Given the description of an element on the screen output the (x, y) to click on. 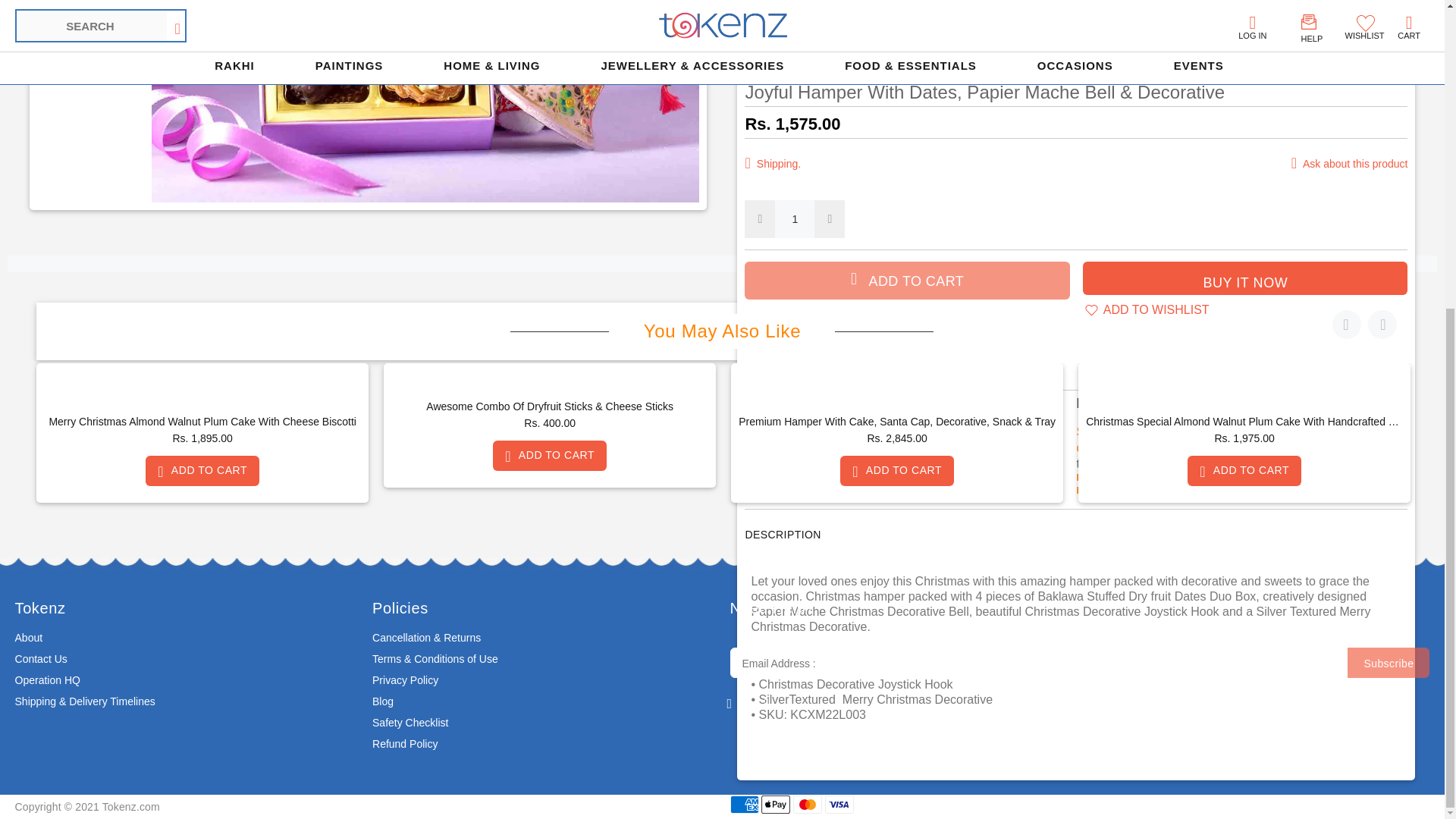
American Express (743, 804)
Apple Pay (775, 804)
Mastercard (807, 804)
Visa (839, 804)
